Given the description of an element on the screen output the (x, y) to click on. 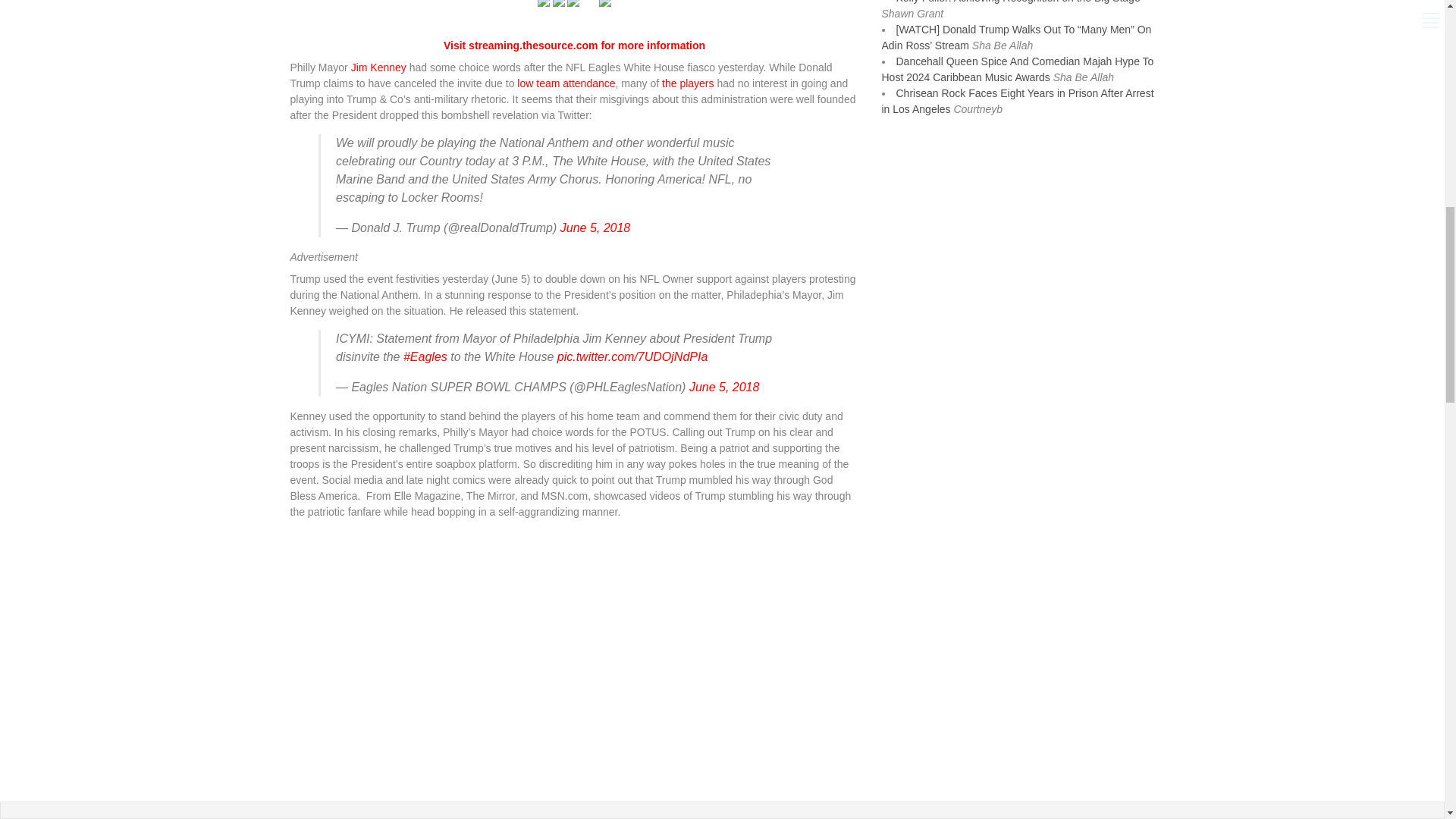
Jim Kenney (378, 67)
Visit streaming.thesource.com for more information (574, 45)
low team attendance (565, 82)
June 5, 2018 (595, 227)
the players (687, 82)
June 5, 2018 (724, 386)
